Given the description of an element on the screen output the (x, y) to click on. 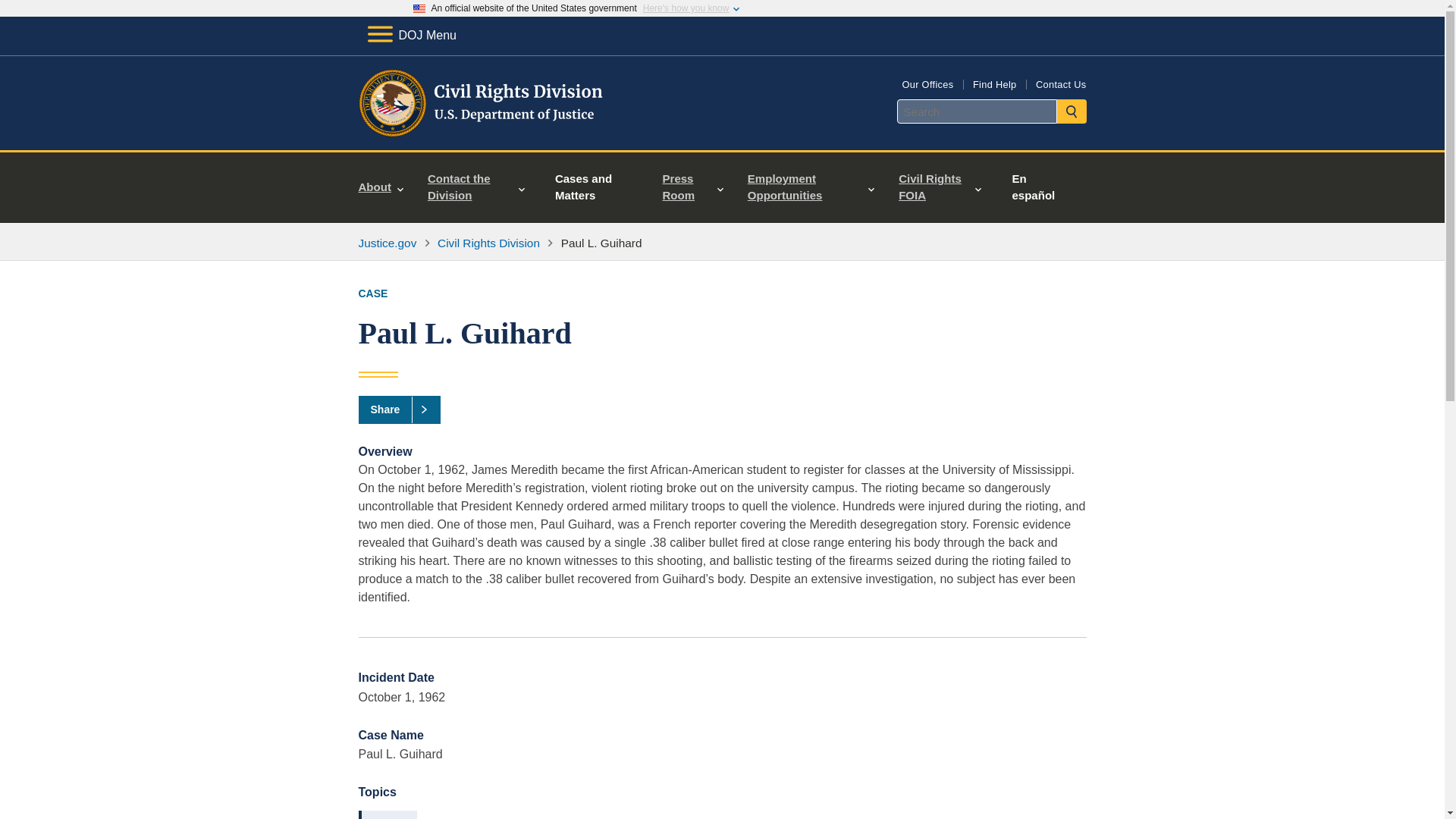
Civil Rights FOIA (939, 187)
Our Offices (927, 84)
Here's how you know (686, 8)
Employment Opportunities (810, 187)
Contact Us (1060, 84)
Cases and Matters (593, 187)
Home (481, 132)
About (380, 187)
Find Help (994, 84)
Share (398, 409)
